Given the description of an element on the screen output the (x, y) to click on. 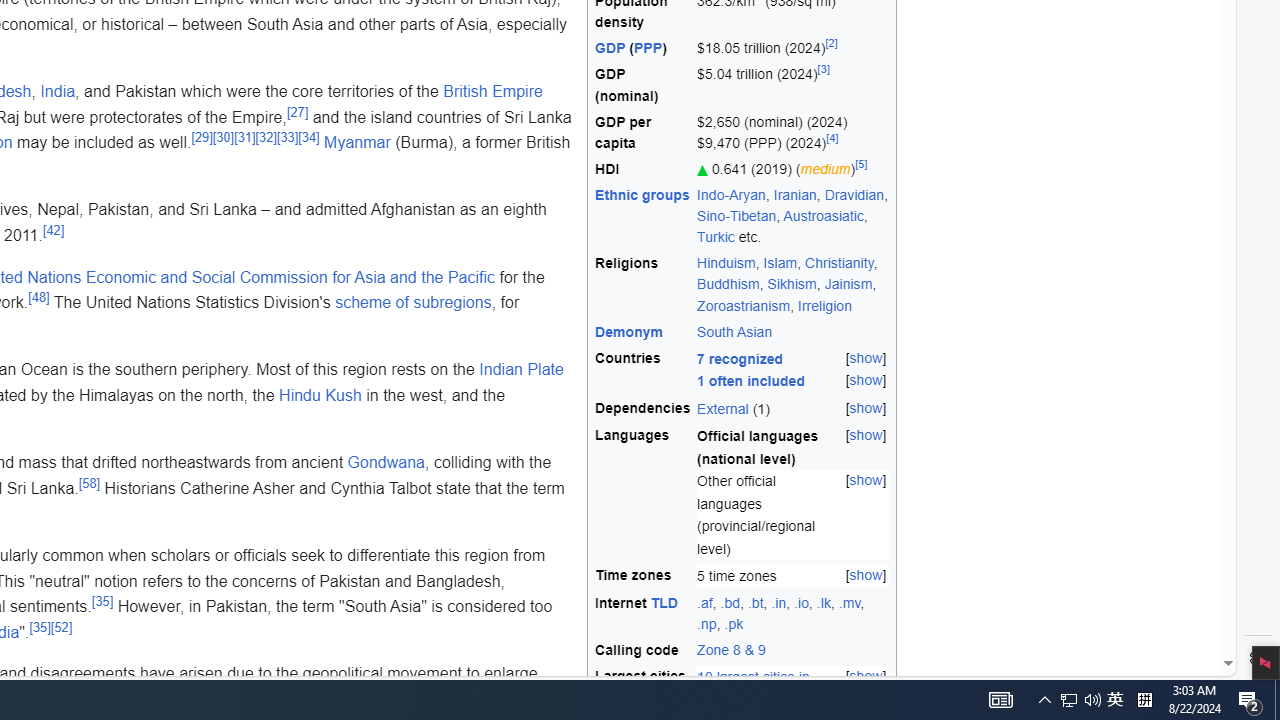
Austroasiatic (824, 216)
HDI (643, 168)
Iranian (794, 195)
[33] (287, 136)
Turkic (715, 237)
PPP (648, 48)
Dependencies (643, 408)
Internet TLD (643, 614)
[32] (265, 136)
British Empire (492, 91)
[35] (40, 627)
.af (704, 602)
[34] (309, 136)
[4] (831, 137)
